Given the description of an element on the screen output the (x, y) to click on. 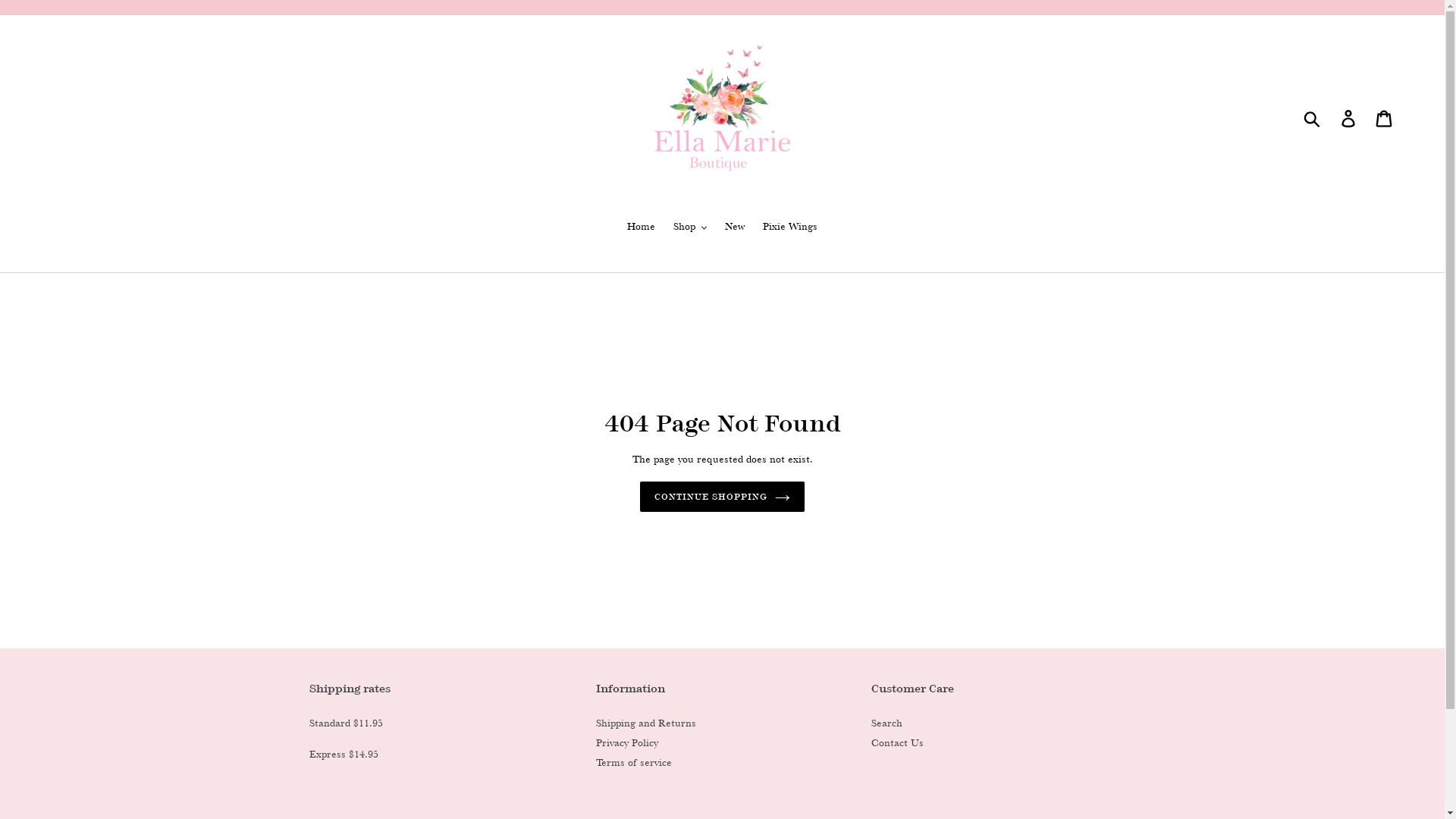
Pixie Wings Element type: text (790, 227)
Cart Element type: text (1384, 118)
Shipping and Returns Element type: text (646, 723)
Privacy Policy Element type: text (627, 743)
Log in Element type: text (1349, 118)
New Element type: text (734, 227)
CONTINUE SHOPPING Element type: text (721, 497)
Submit Element type: text (1312, 118)
Contact Us Element type: text (897, 743)
Home Element type: text (640, 227)
Terms of service Element type: text (633, 762)
Search Element type: text (886, 723)
